Given the description of an element on the screen output the (x, y) to click on. 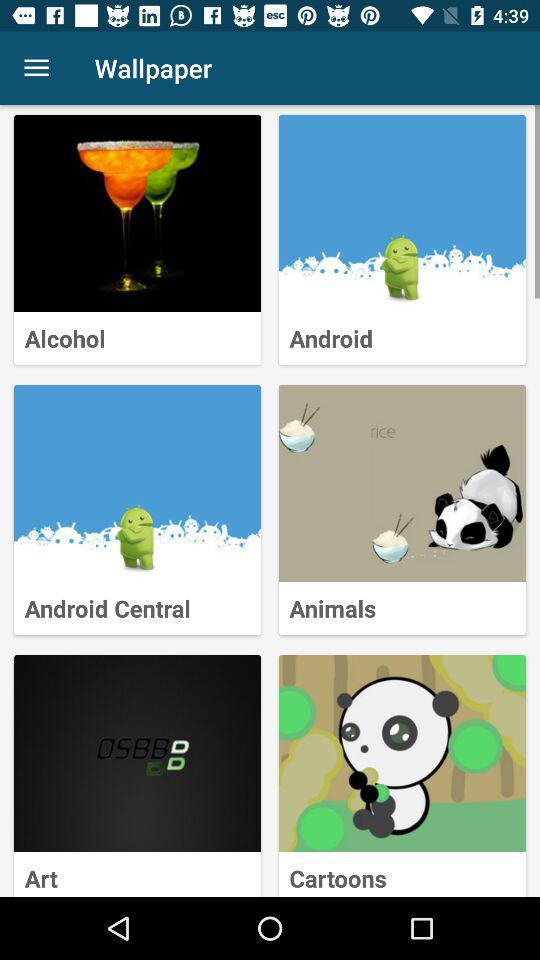
select art wallpaper collection (137, 753)
